Given the description of an element on the screen output the (x, y) to click on. 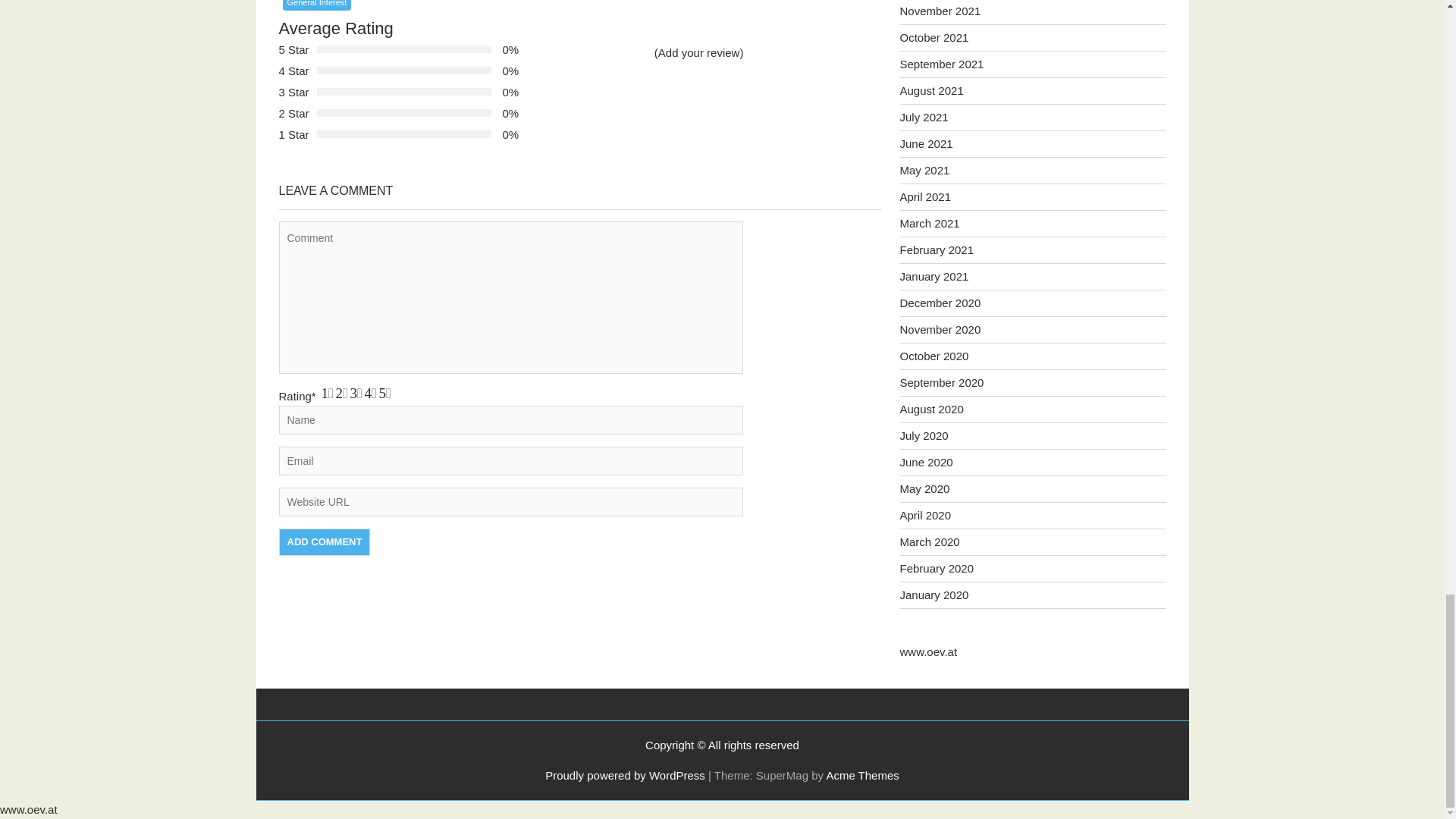
Add Comment (325, 542)
